Given the description of an element on the screen output the (x, y) to click on. 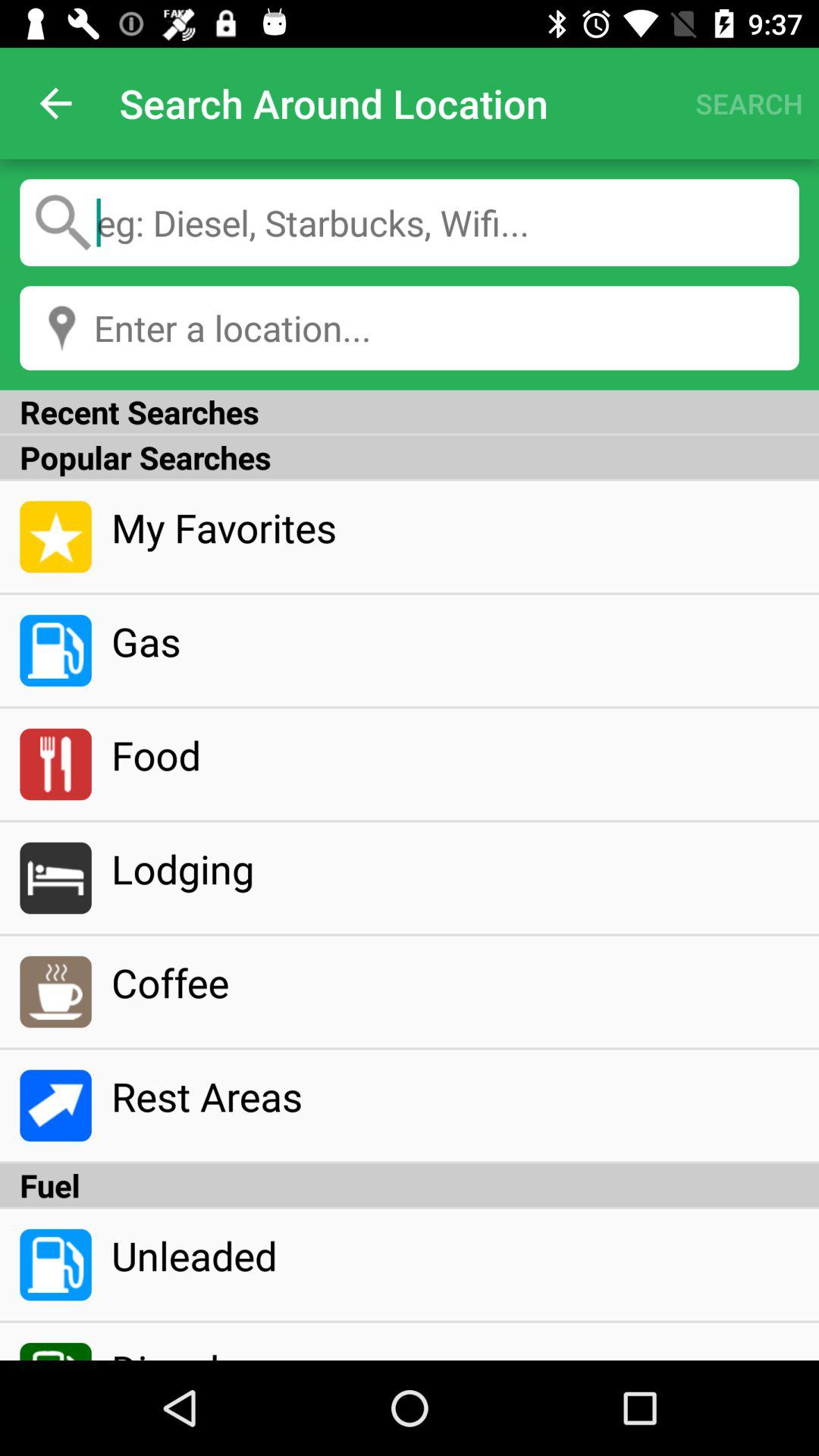
open the icon at the top left corner (55, 103)
